Given the description of an element on the screen output the (x, y) to click on. 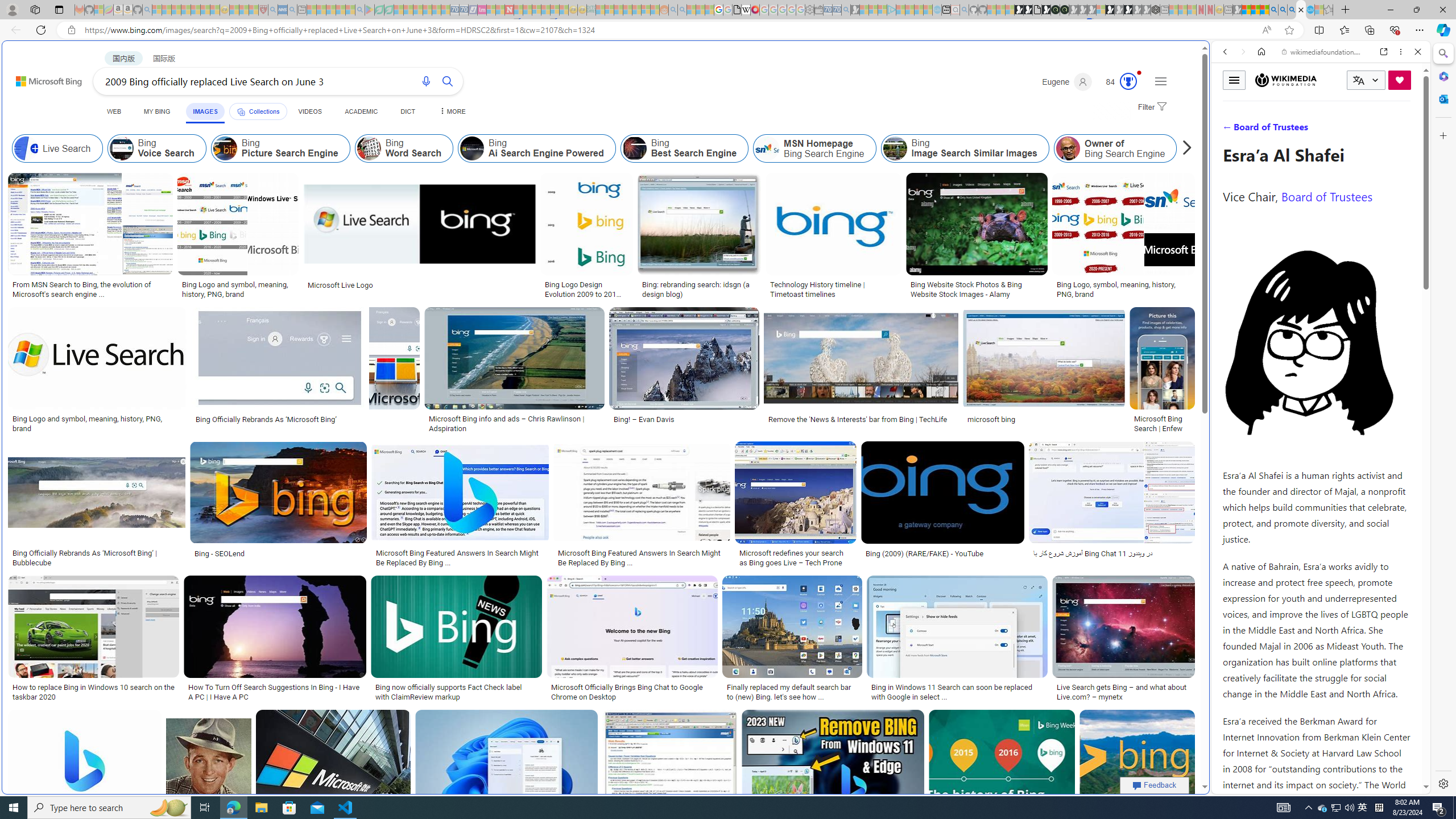
Microsoft Live Logo (419, 284)
Favorites - Sleeping (1328, 9)
